Given the description of an element on the screen output the (x, y) to click on. 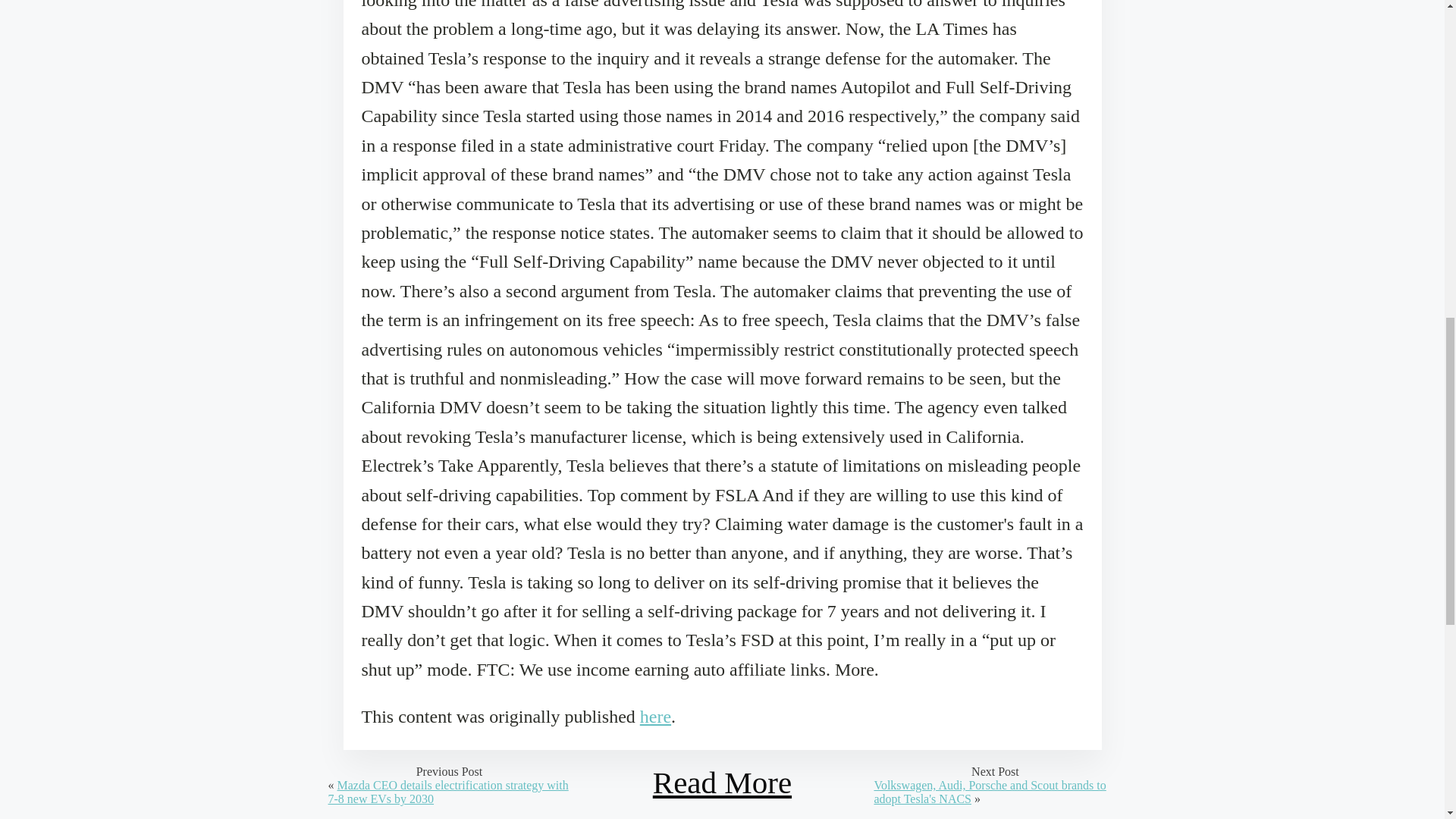
Read More (722, 782)
here (655, 716)
